Given the description of an element on the screen output the (x, y) to click on. 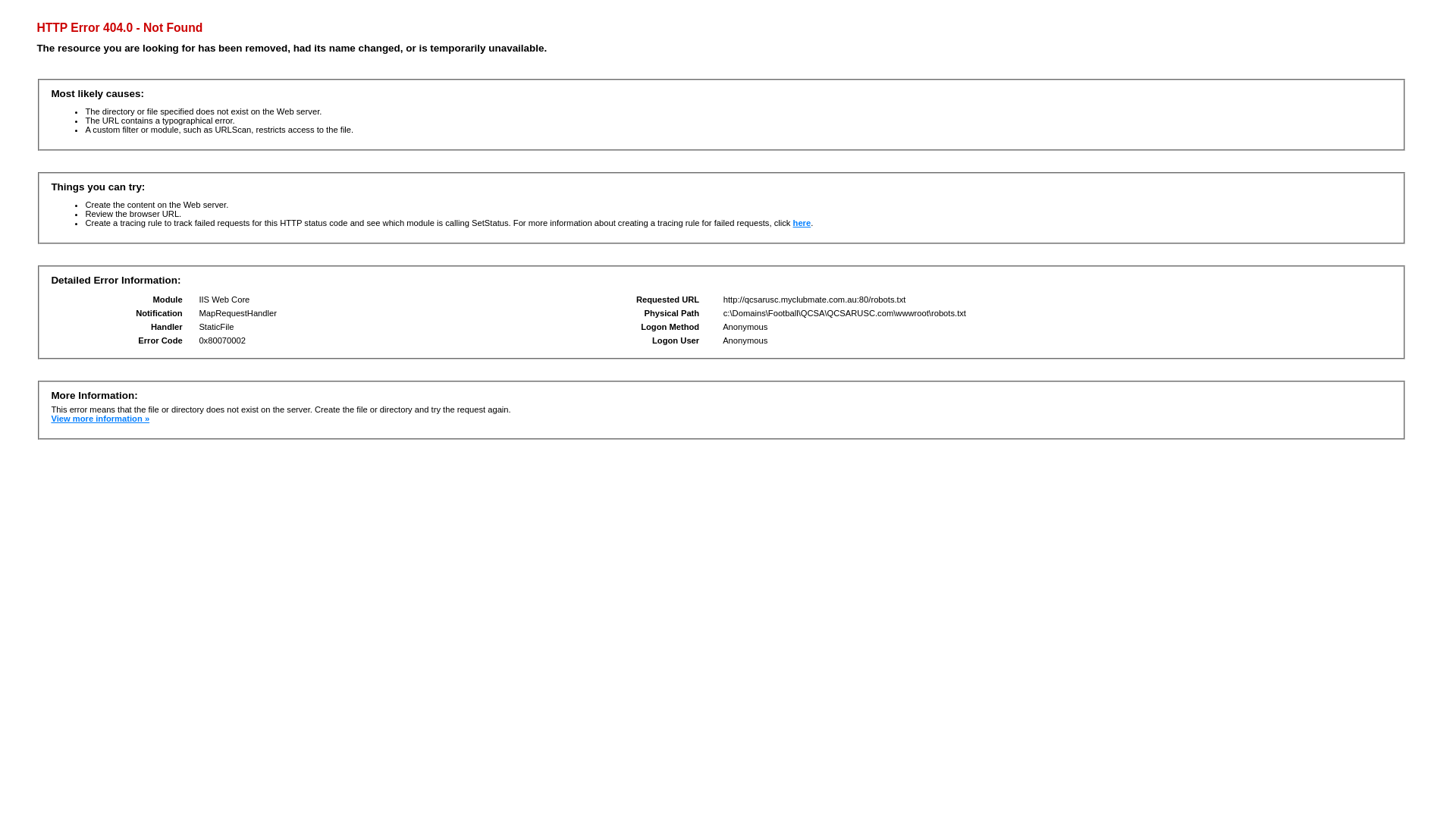
here Element type: text (802, 222)
